Given the description of an element on the screen output the (x, y) to click on. 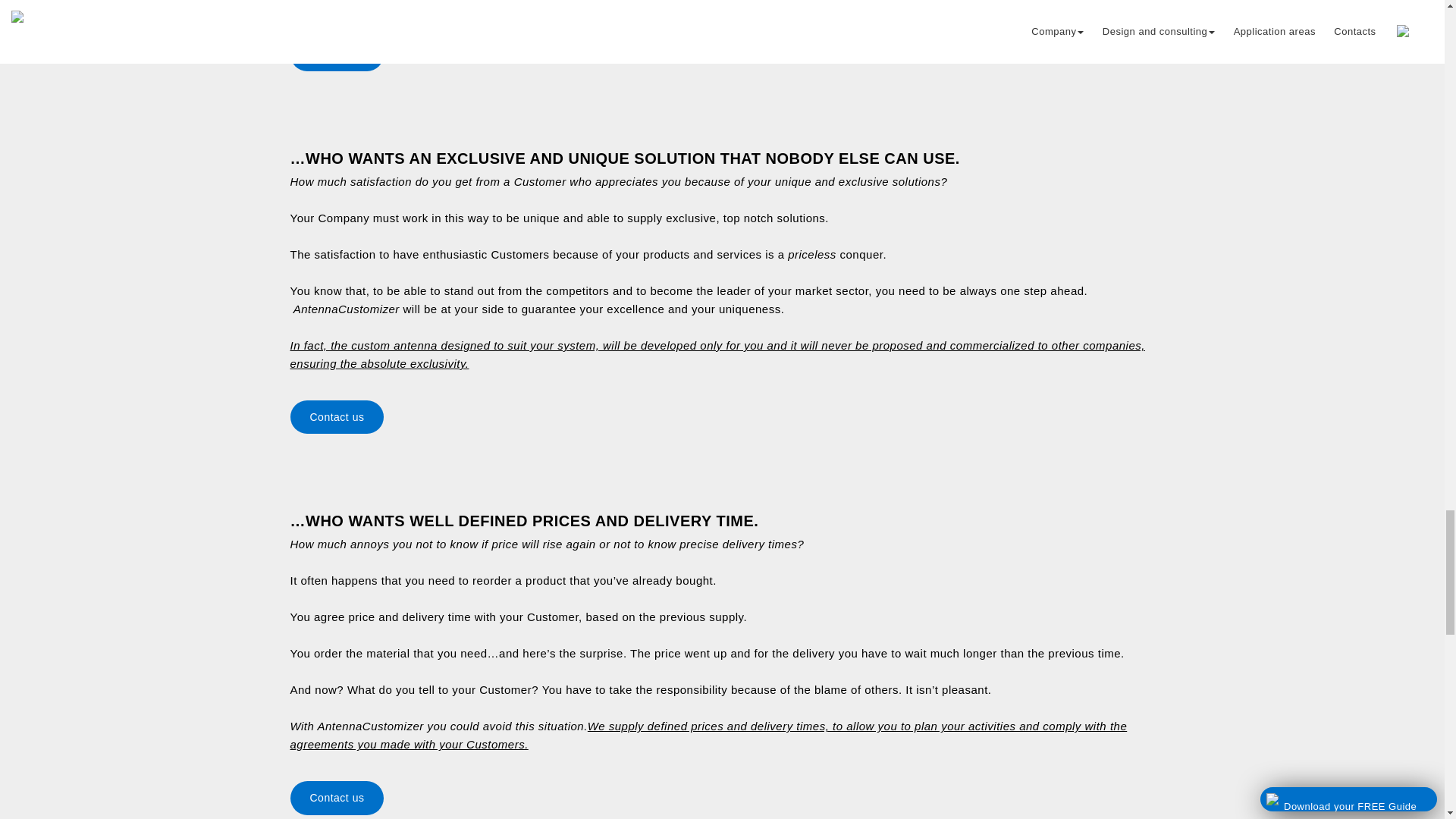
Contact us (721, 53)
Contact us (721, 796)
Contact us (721, 416)
